Given the description of an element on the screen output the (x, y) to click on. 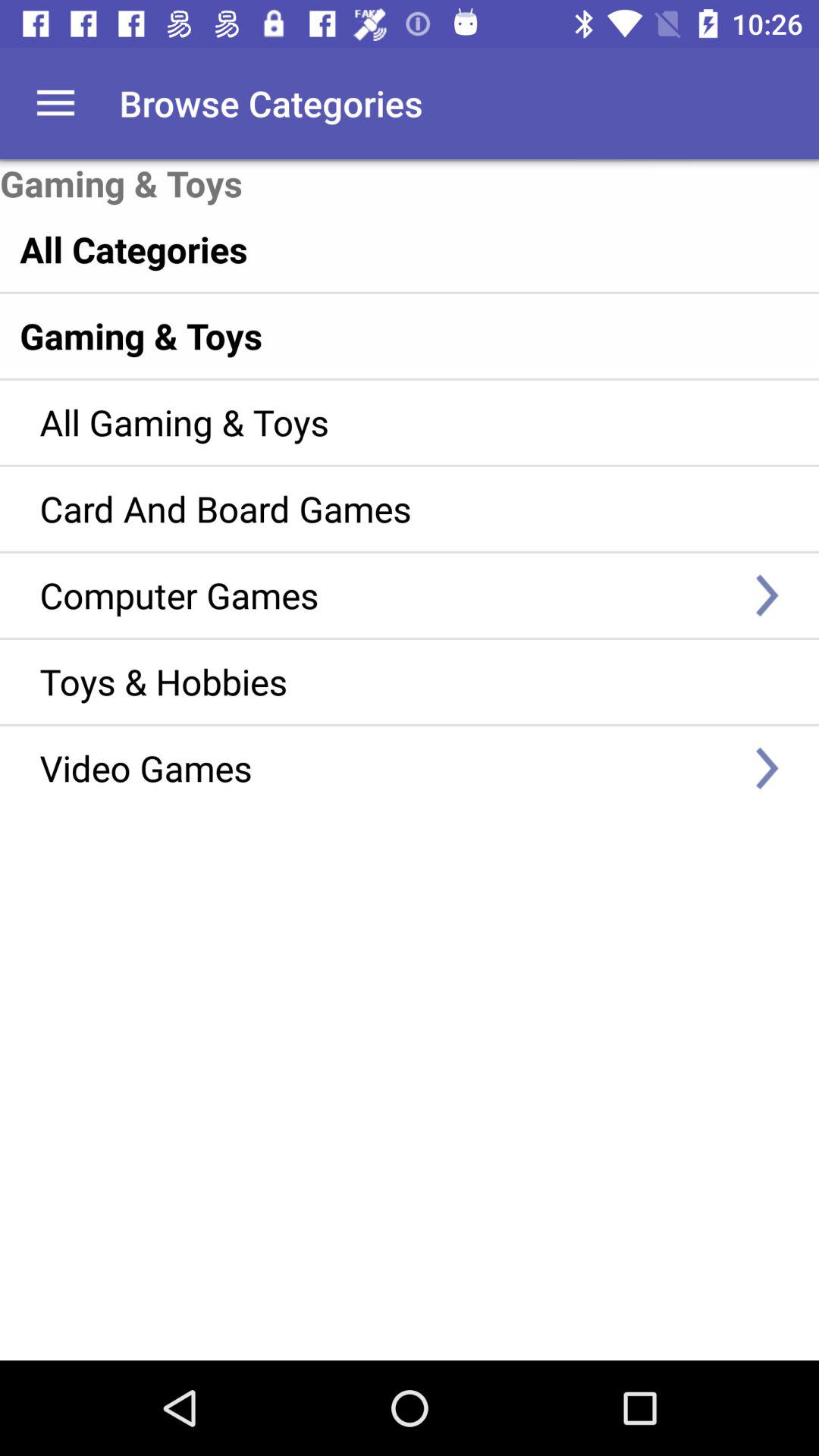
open item below the toys & hobbies item (387, 767)
